Given the description of an element on the screen output the (x, y) to click on. 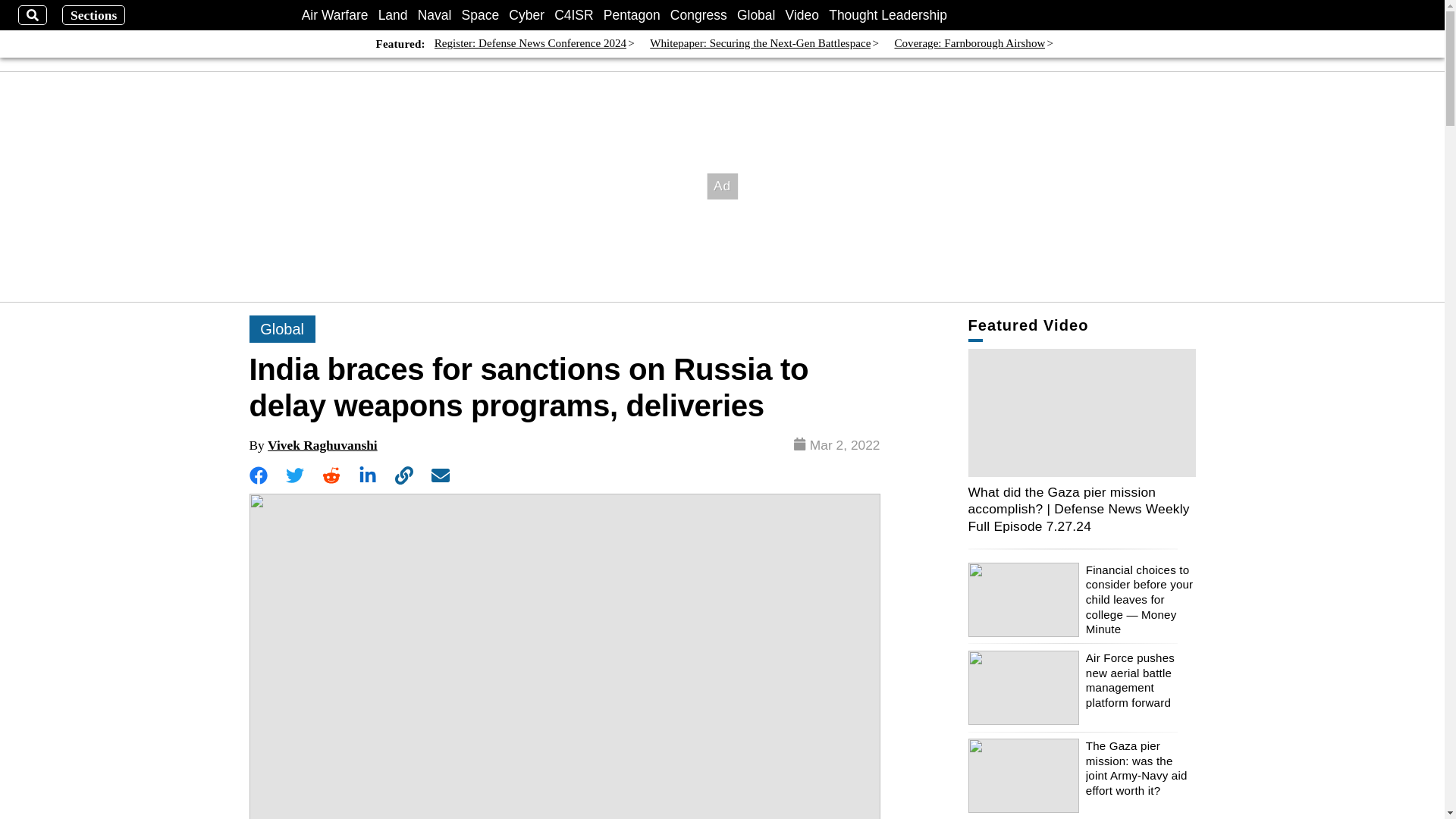
Land (392, 14)
Thought Leadership (887, 14)
Video (802, 14)
Air Warfare (334, 14)
Sections (93, 14)
Naval (434, 14)
Pentagon (632, 14)
Global (756, 14)
Congress (697, 14)
Space (480, 14)
